Given the description of an element on the screen output the (x, y) to click on. 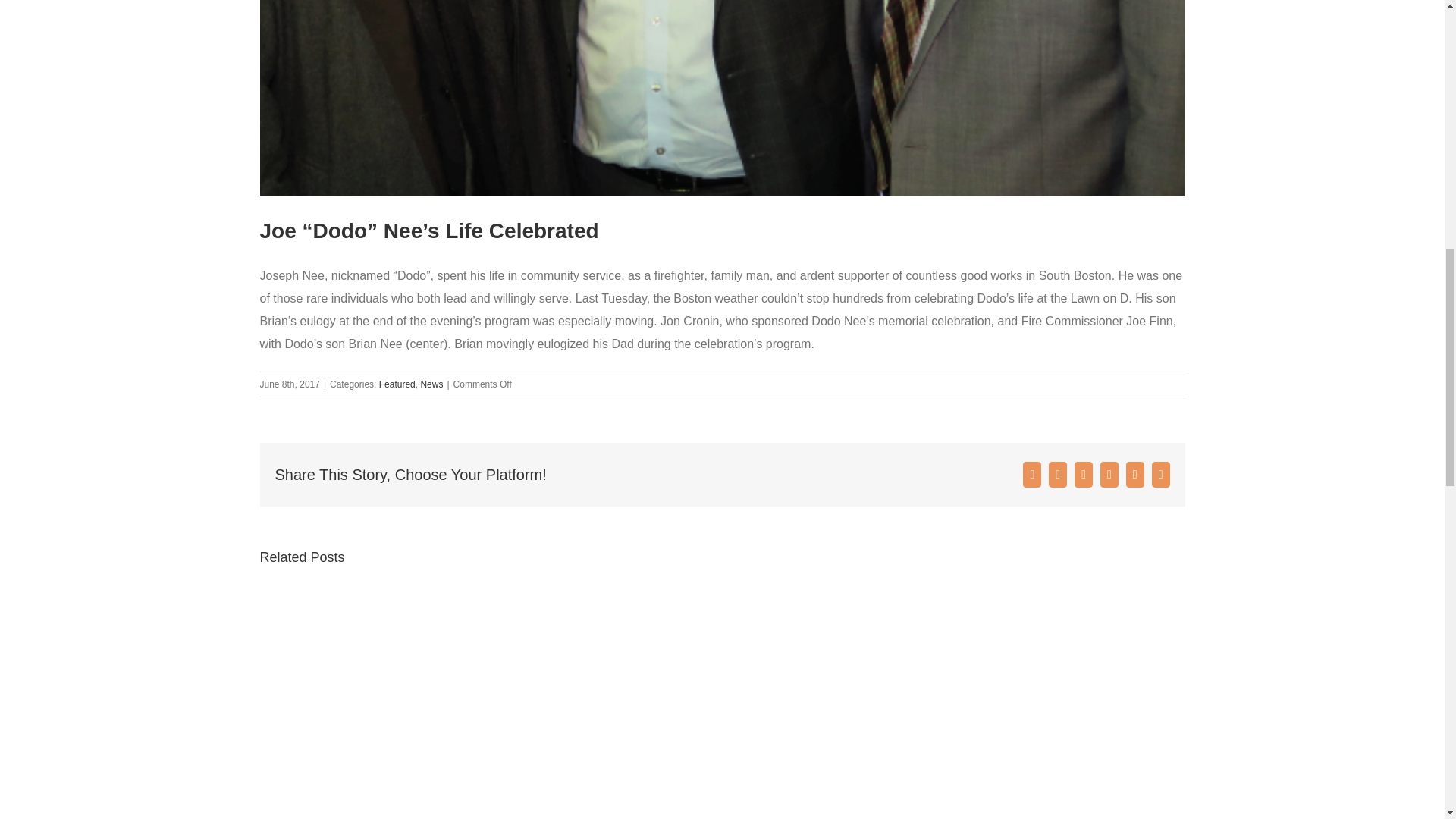
Featured (396, 384)
News (431, 384)
